Given the description of an element on the screen output the (x, y) to click on. 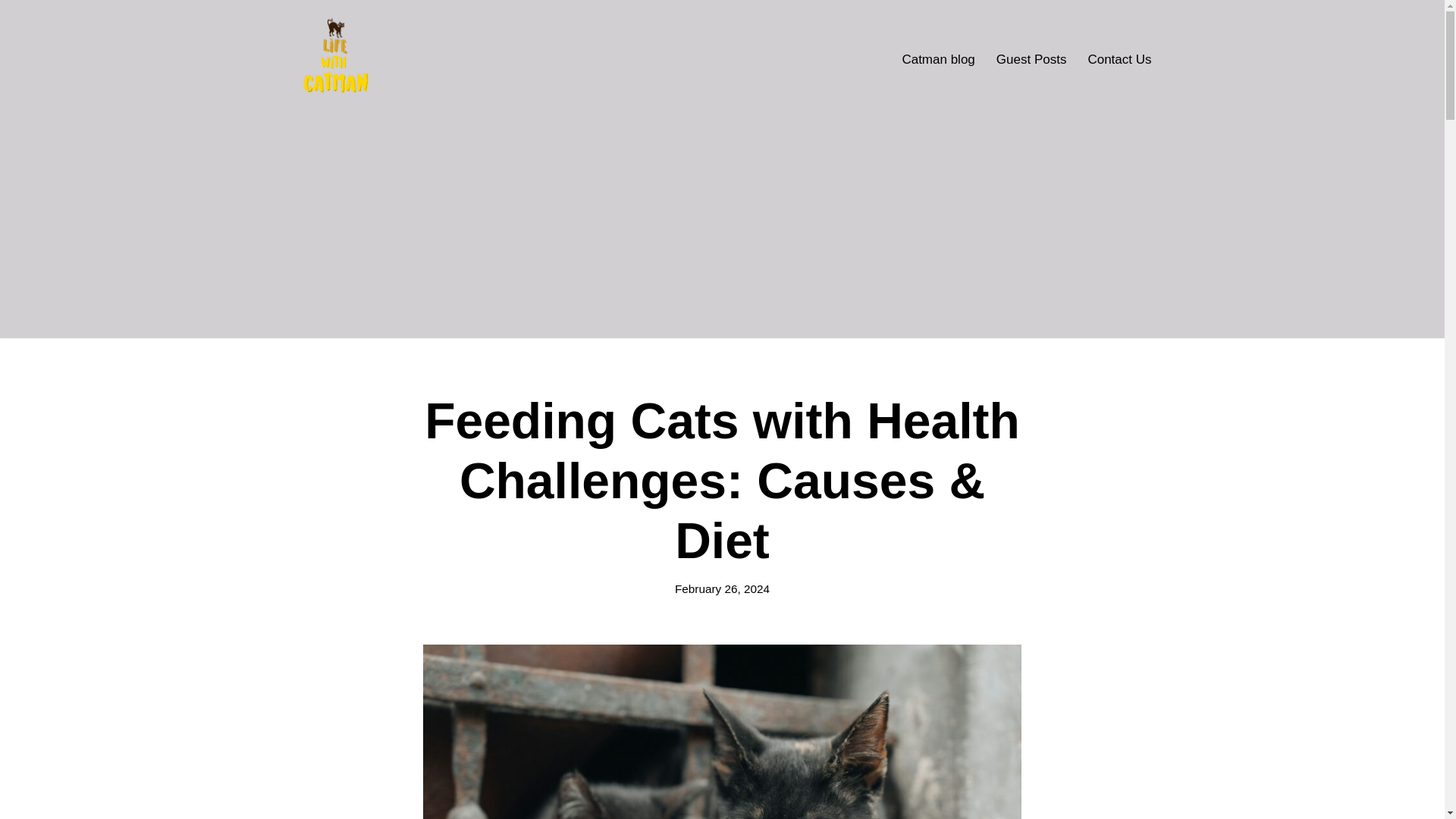
Skip to content (11, 31)
Contact Us (1119, 58)
Catman blog (937, 58)
Guest Posts (1031, 58)
